Given the description of an element on the screen output the (x, y) to click on. 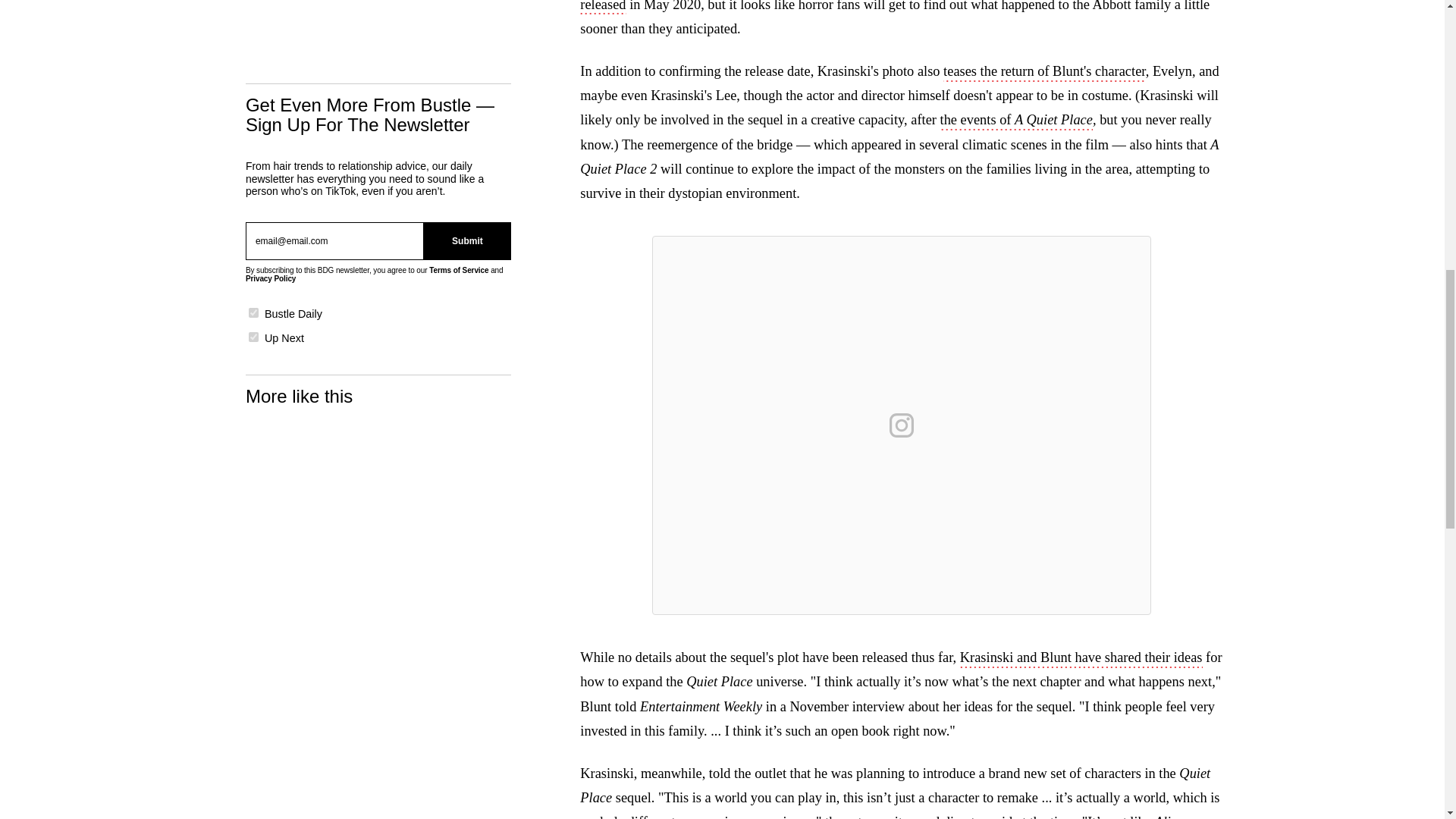
the Quiet Place sequel will be released (879, 7)
View on Instagram (901, 425)
Submit (467, 240)
Privacy Policy (270, 278)
Krasinski and Blunt have shared their ideas (1080, 659)
Terms of Service (458, 270)
the events of A Quiet Place (1016, 121)
teases the return of Blunt's character (1044, 72)
